Given the description of an element on the screen output the (x, y) to click on. 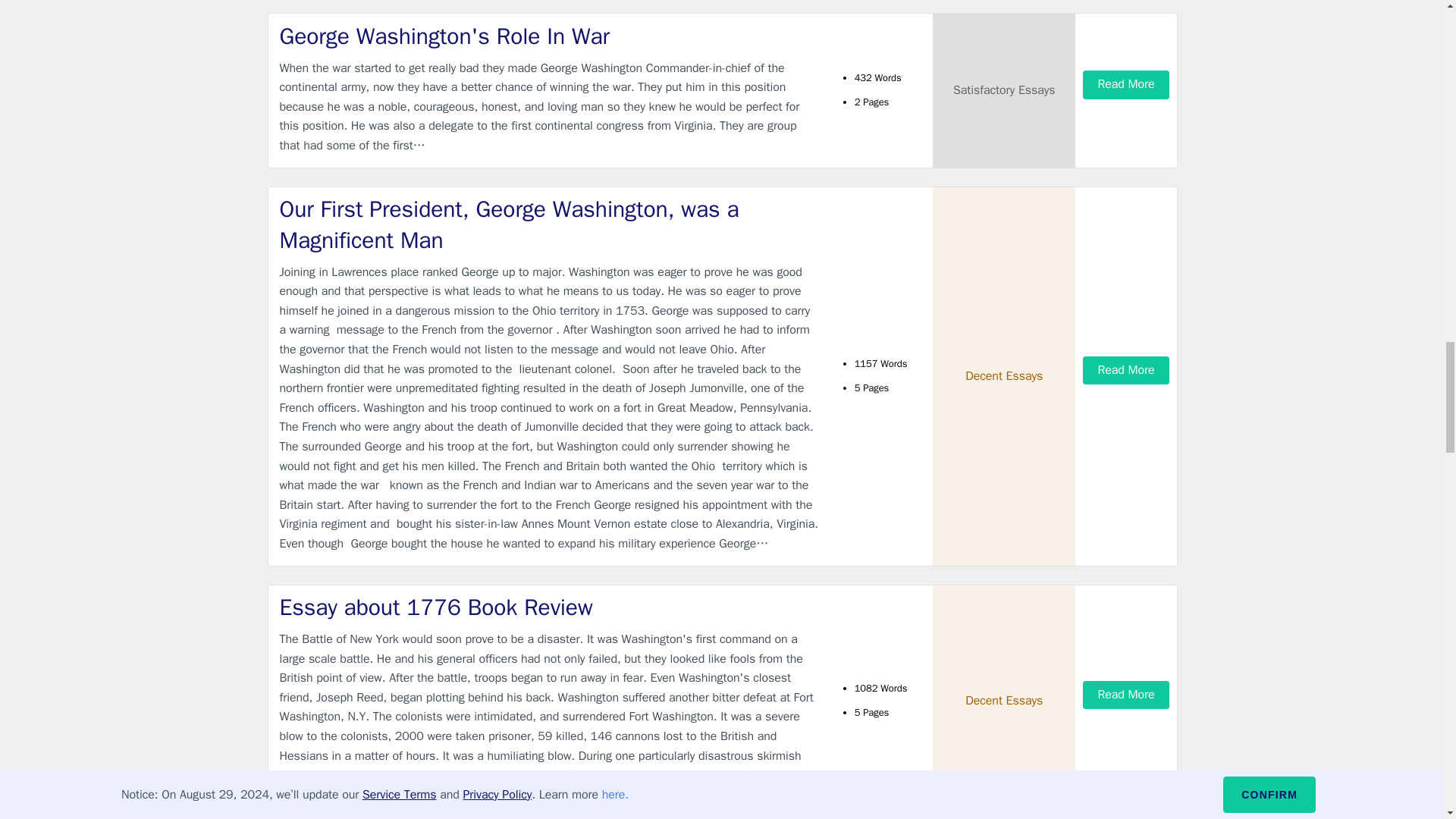
George Washington's Role In War (548, 36)
Read More (1126, 84)
Read More (1126, 694)
Read More (1126, 370)
Essay about 1776 Book Review (548, 607)
